Given the description of an element on the screen output the (x, y) to click on. 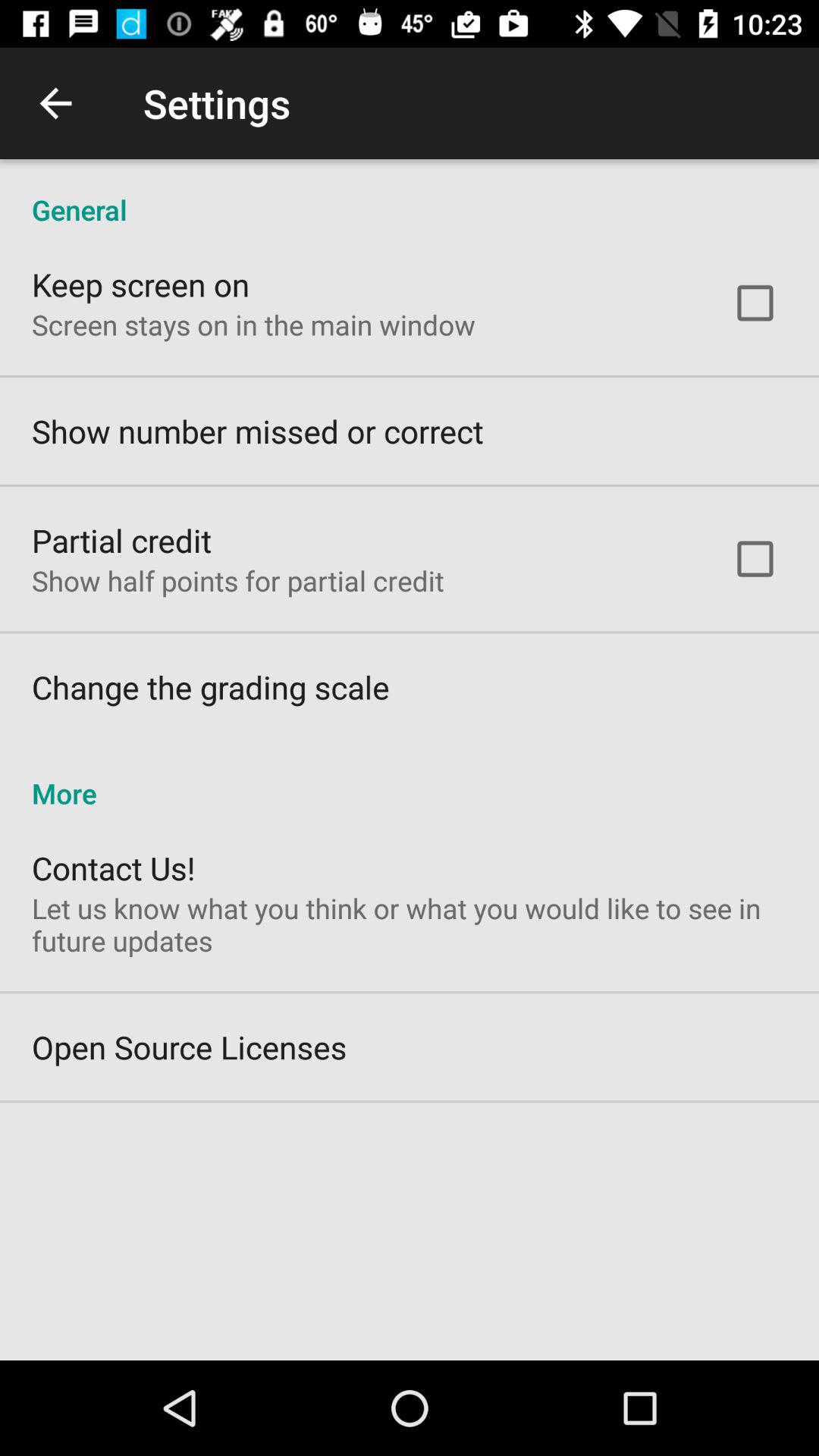
turn on item above more (210, 686)
